Given the description of an element on the screen output the (x, y) to click on. 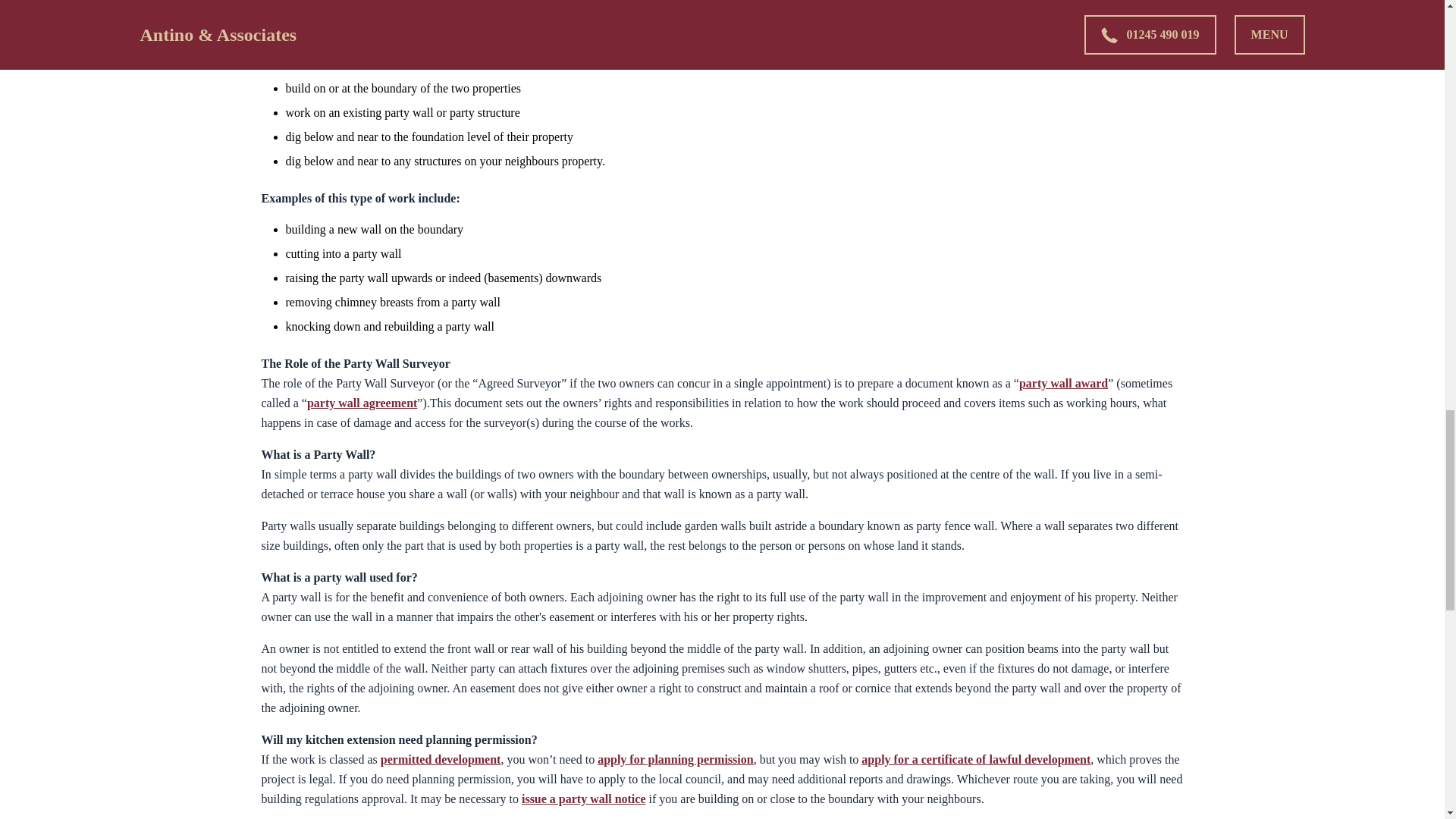
party wall award (1063, 382)
permitted development (440, 758)
apply for a certificate of lawful development (975, 758)
party wall agreement (361, 402)
issue a party wall notice (583, 798)
apply for planning permission (675, 758)
